Given the description of an element on the screen output the (x, y) to click on. 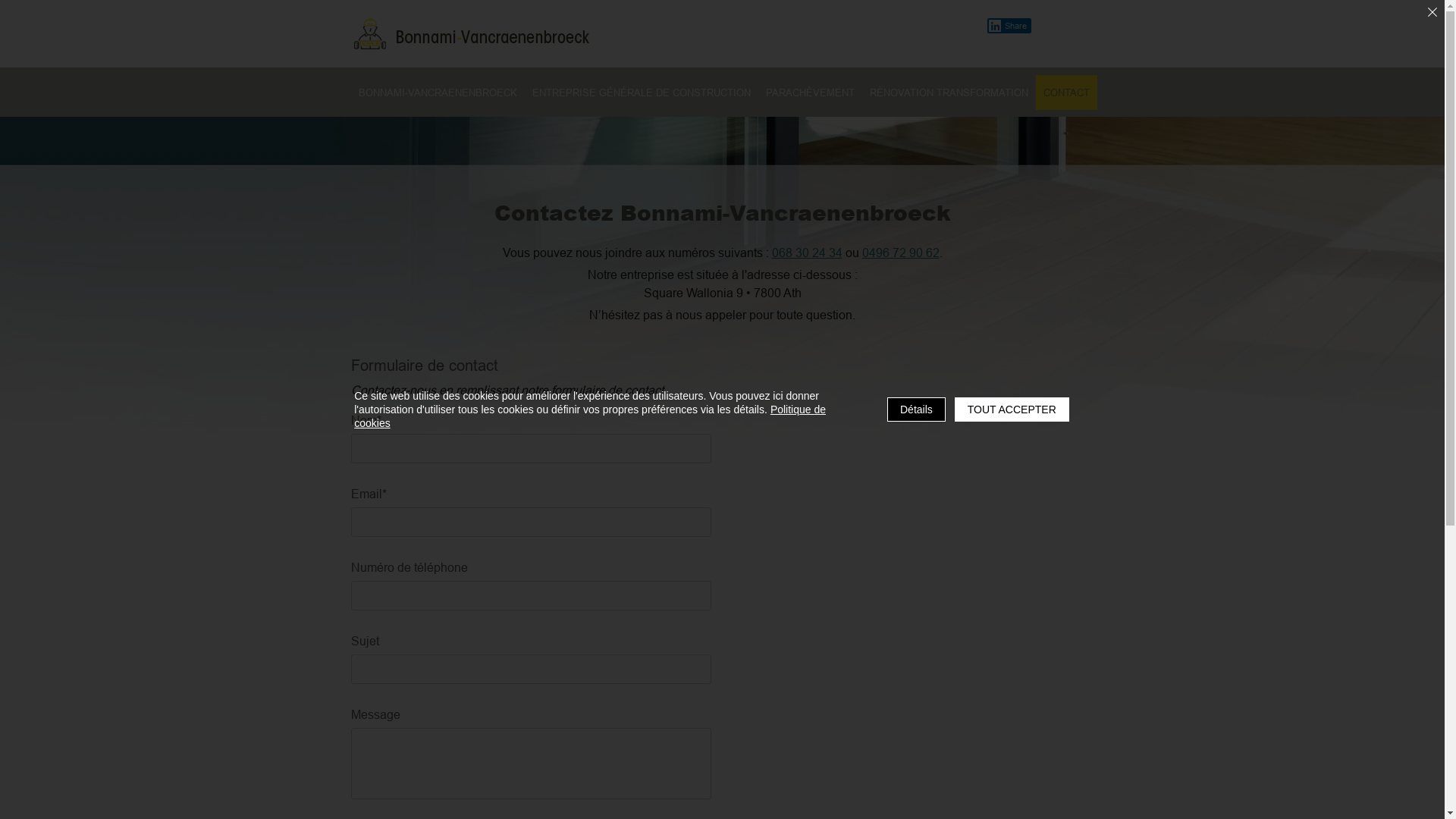
Embedded Content Element type: hover (947, 25)
068 30 24 34 Element type: text (806, 252)
TOUT ACCEPTER Element type: text (1011, 409)
BONNAMI-VANCRAENENBROECK Element type: text (437, 92)
CONTACT Element type: text (1066, 92)
Share Element type: text (1016, 25)
Politique de cookies Element type: text (589, 416)
0496 72 90 62 Element type: text (899, 252)
Embedded Content Element type: hover (888, 25)
